Given the description of an element on the screen output the (x, y) to click on. 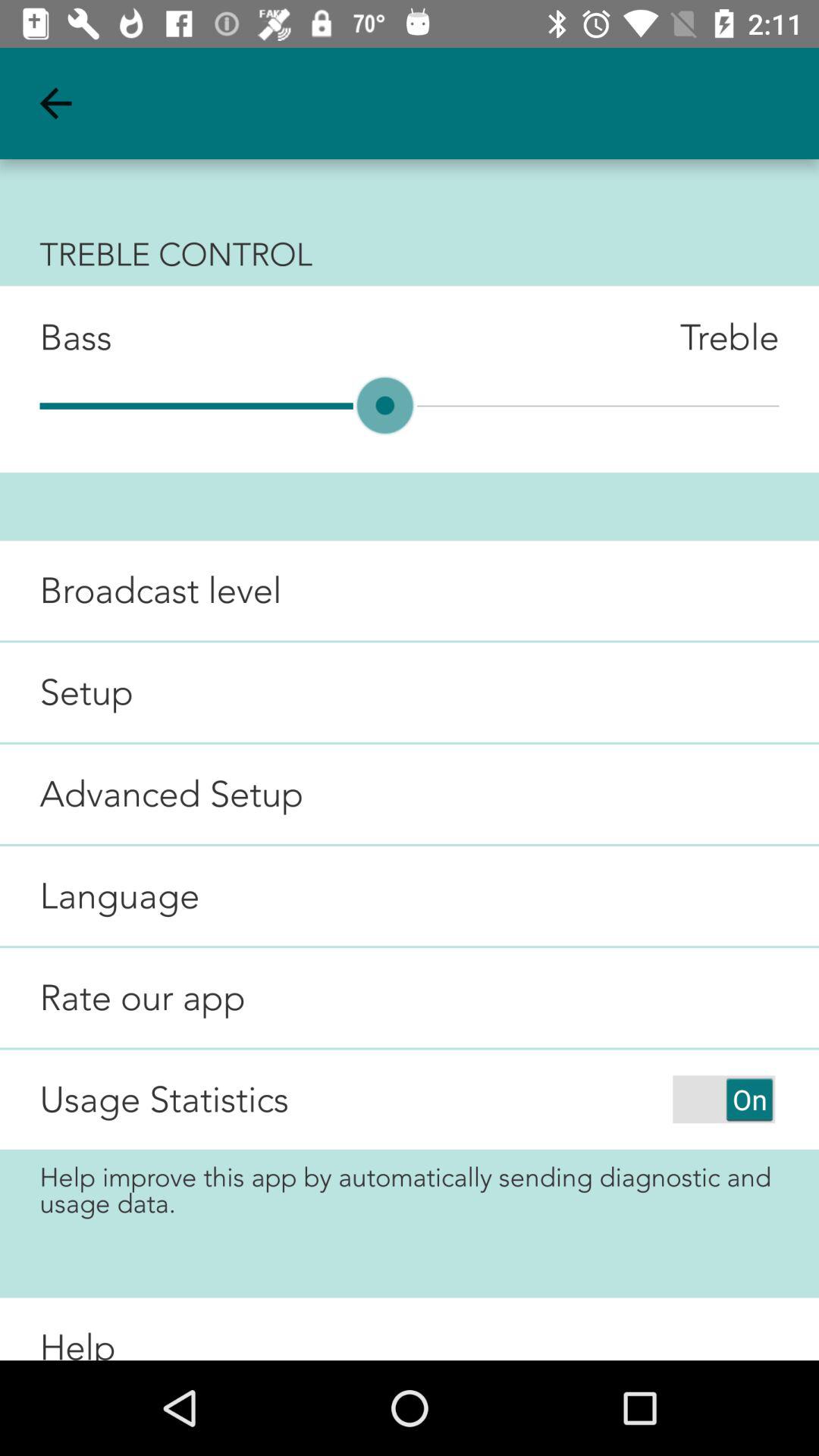
scroll until rate our app icon (122, 997)
